Given the description of an element on the screen output the (x, y) to click on. 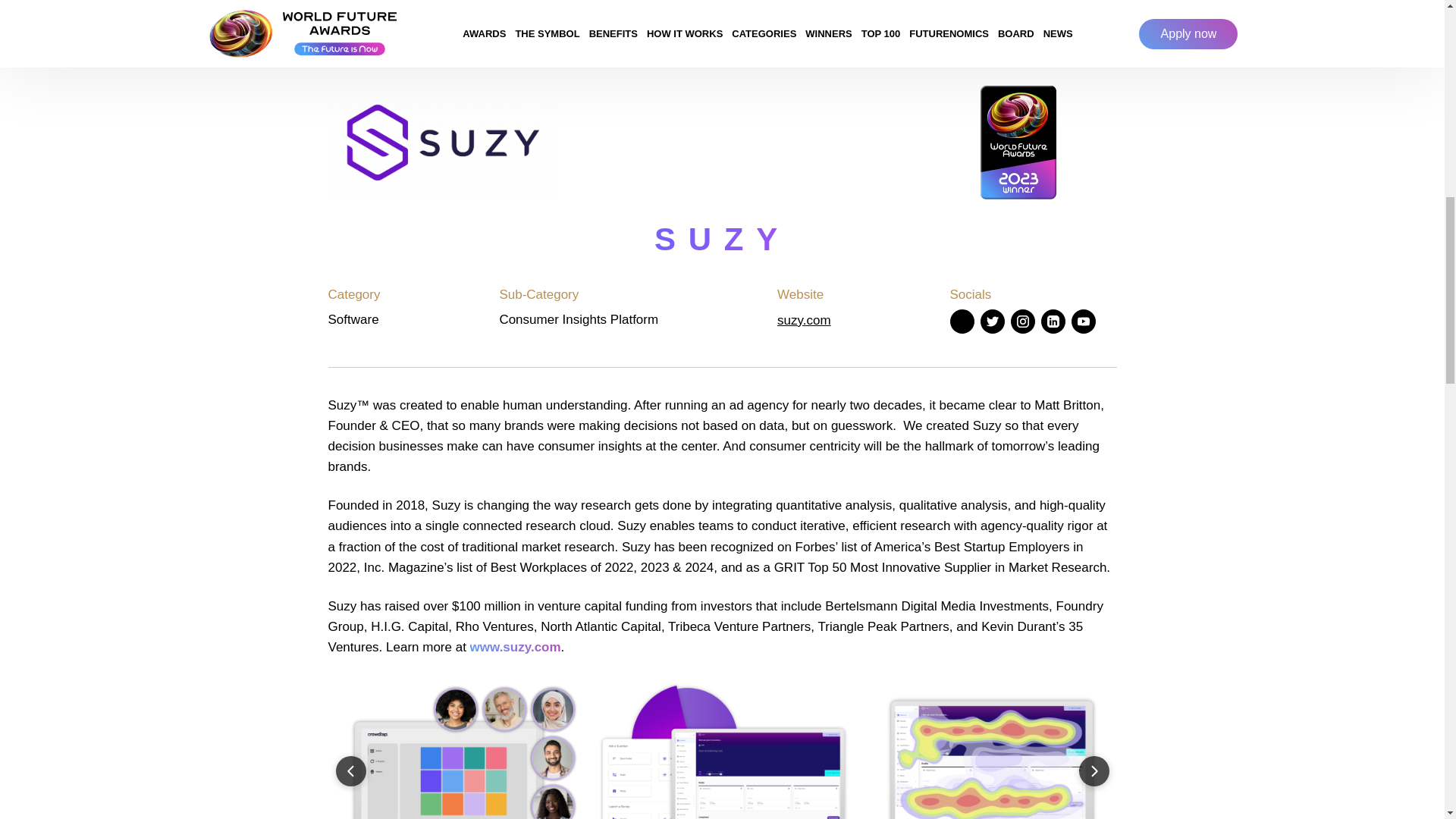
Next (1093, 770)
Previous (349, 770)
suzy.com (804, 319)
www.suzy.com (515, 646)
